Given the description of an element on the screen output the (x, y) to click on. 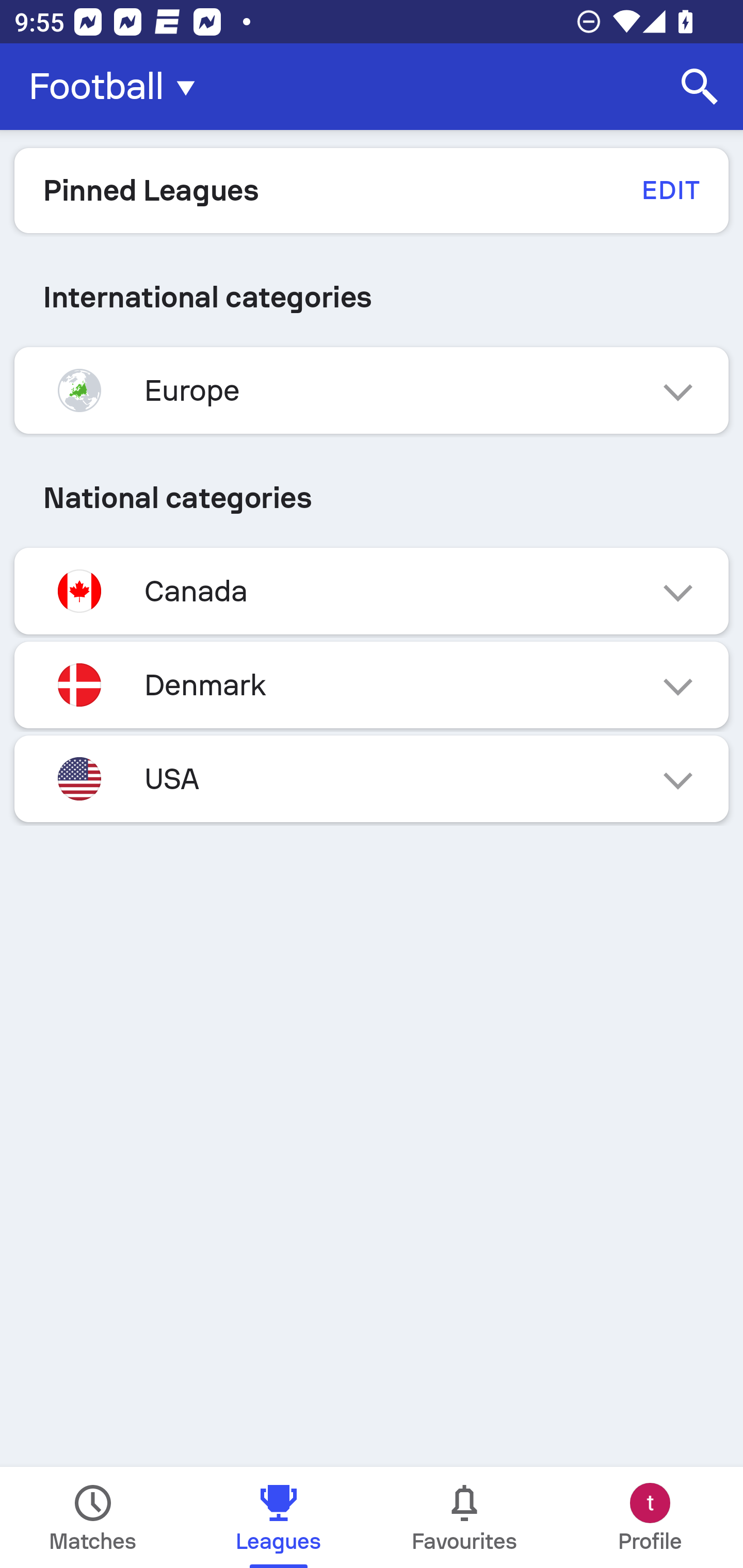
Football (117, 86)
Search (699, 86)
Pinned Leagues EDIT (371, 190)
EDIT (670, 190)
International categories (371, 296)
Europe (371, 390)
National categories (371, 497)
Canada (371, 591)
Denmark (371, 684)
USA (371, 778)
Matches (92, 1517)
Favourites (464, 1517)
Profile (650, 1517)
